Given the description of an element on the screen output the (x, y) to click on. 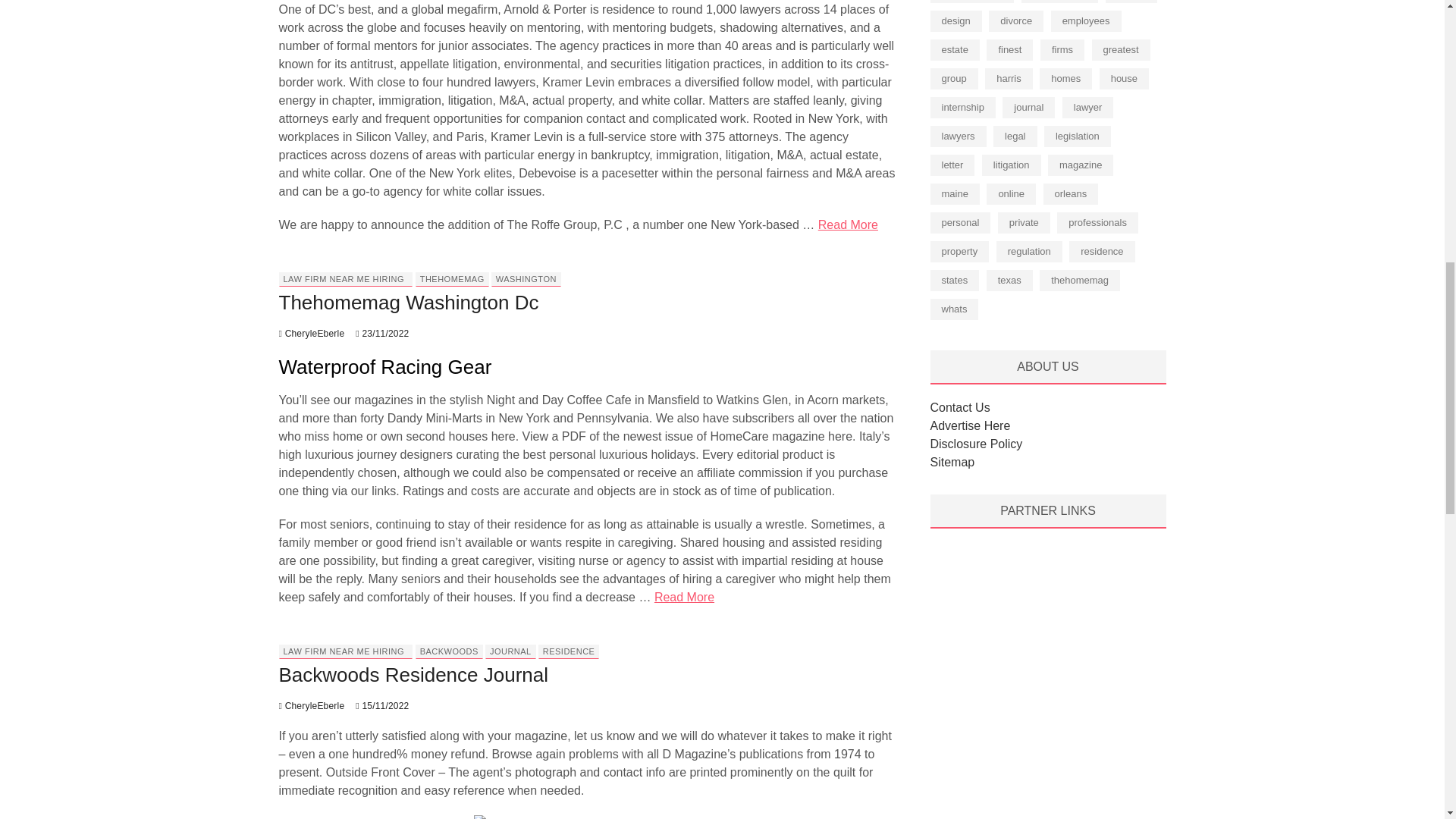
Backwoods Residence Journal (312, 706)
Thehomemag Washington Dc (312, 333)
Backwoods Residence Journal (413, 674)
Thehomemag Washington Dc (408, 302)
